Given the description of an element on the screen output the (x, y) to click on. 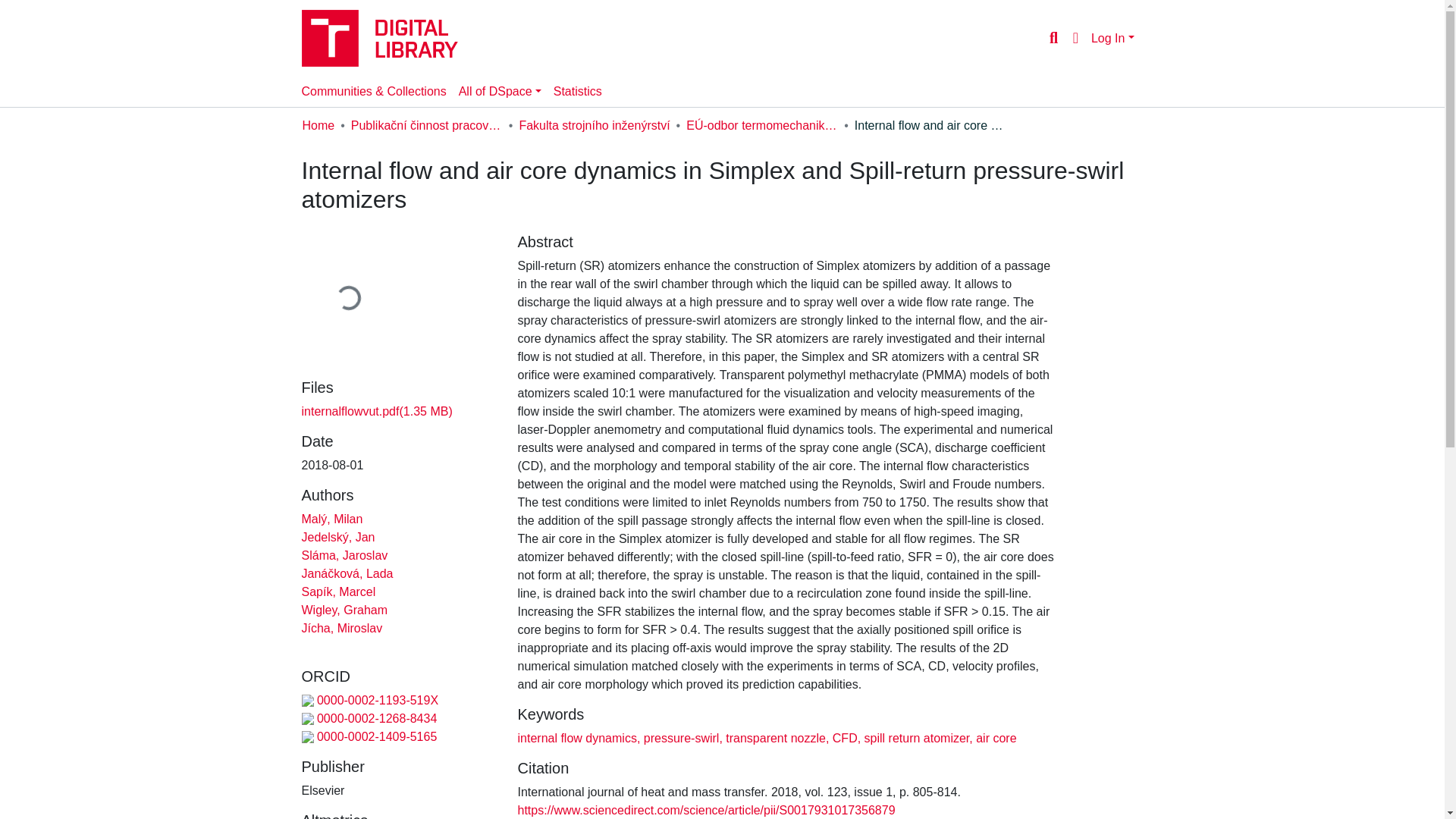
0000-0002-1409-5165 (369, 736)
transparent nozzle, (775, 738)
Home (317, 126)
Search (1052, 37)
0000-0002-1193-519X (370, 699)
Wigley, Graham (344, 609)
internal flow dynamics, (578, 738)
air core (994, 738)
pressure-swirl, (681, 738)
CFD, (844, 738)
